Given the description of an element on the screen output the (x, y) to click on. 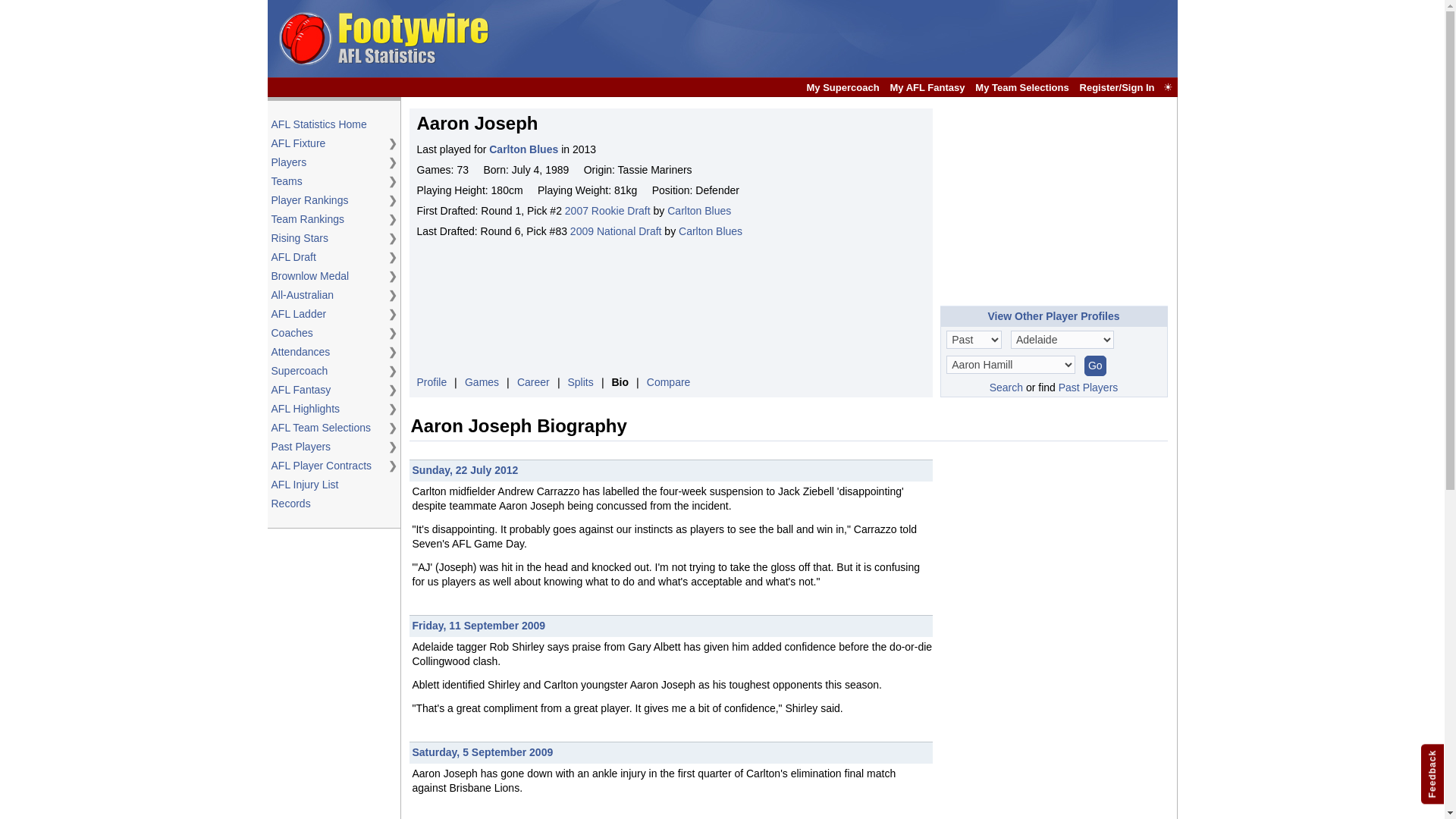
Player Rankings (325, 200)
Past Players (325, 446)
Carlton Blues (523, 149)
AFL Player Contracts (325, 465)
suspension (736, 491)
Players (325, 162)
Coaches (325, 332)
Teams (325, 181)
Brownlow Medal (325, 276)
praise (585, 646)
2007 Rookie Draft (607, 210)
AFL Team Selections (325, 427)
Advertisement (1053, 203)
Profile (431, 381)
